Given the description of an element on the screen output the (x, y) to click on. 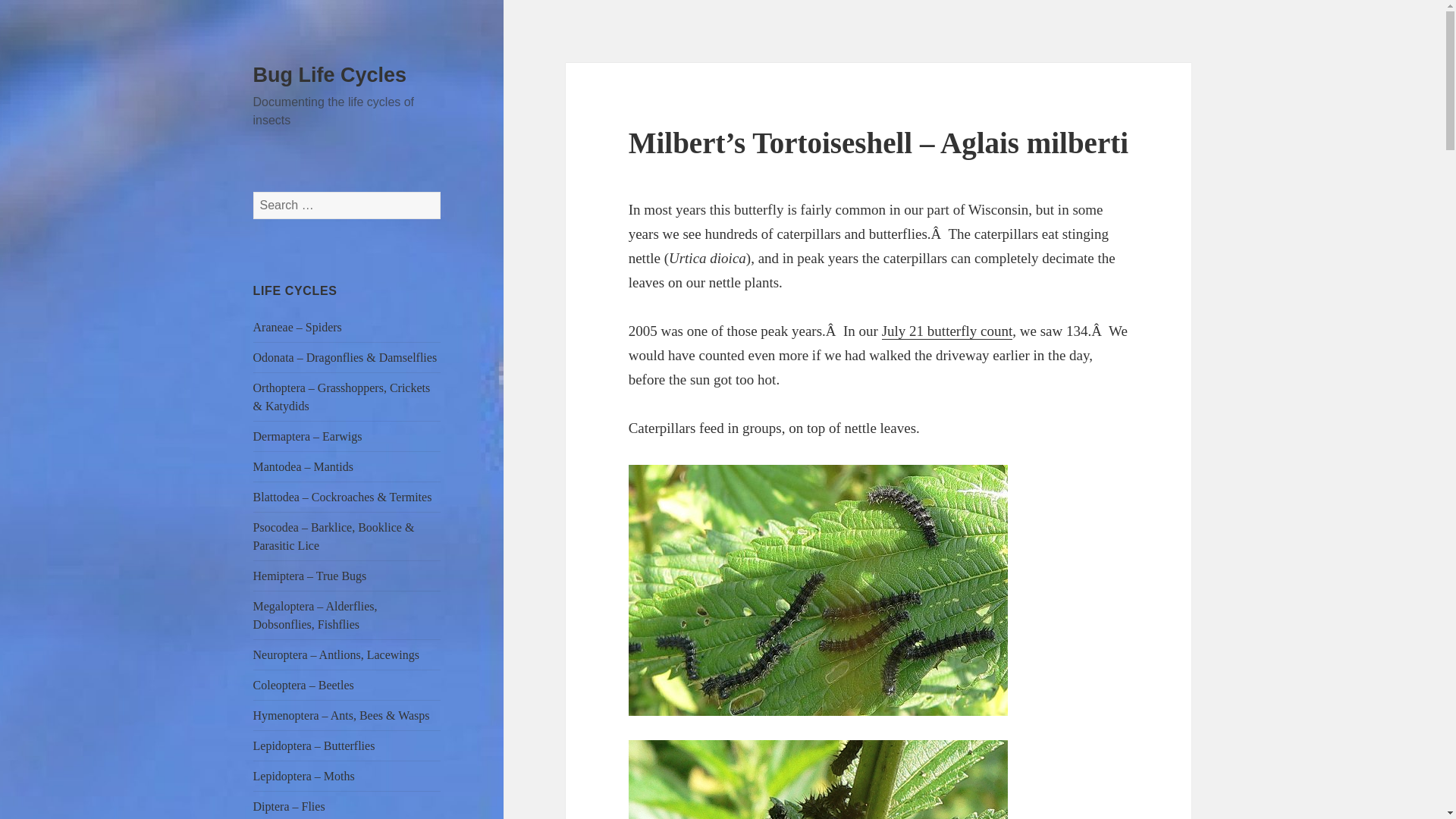
Nymphalis milberti (817, 590)
Nymphalis milberti (817, 779)
Bug Life Cycles (330, 74)
July 21 butterfly count (947, 330)
